Given the description of an element on the screen output the (x, y) to click on. 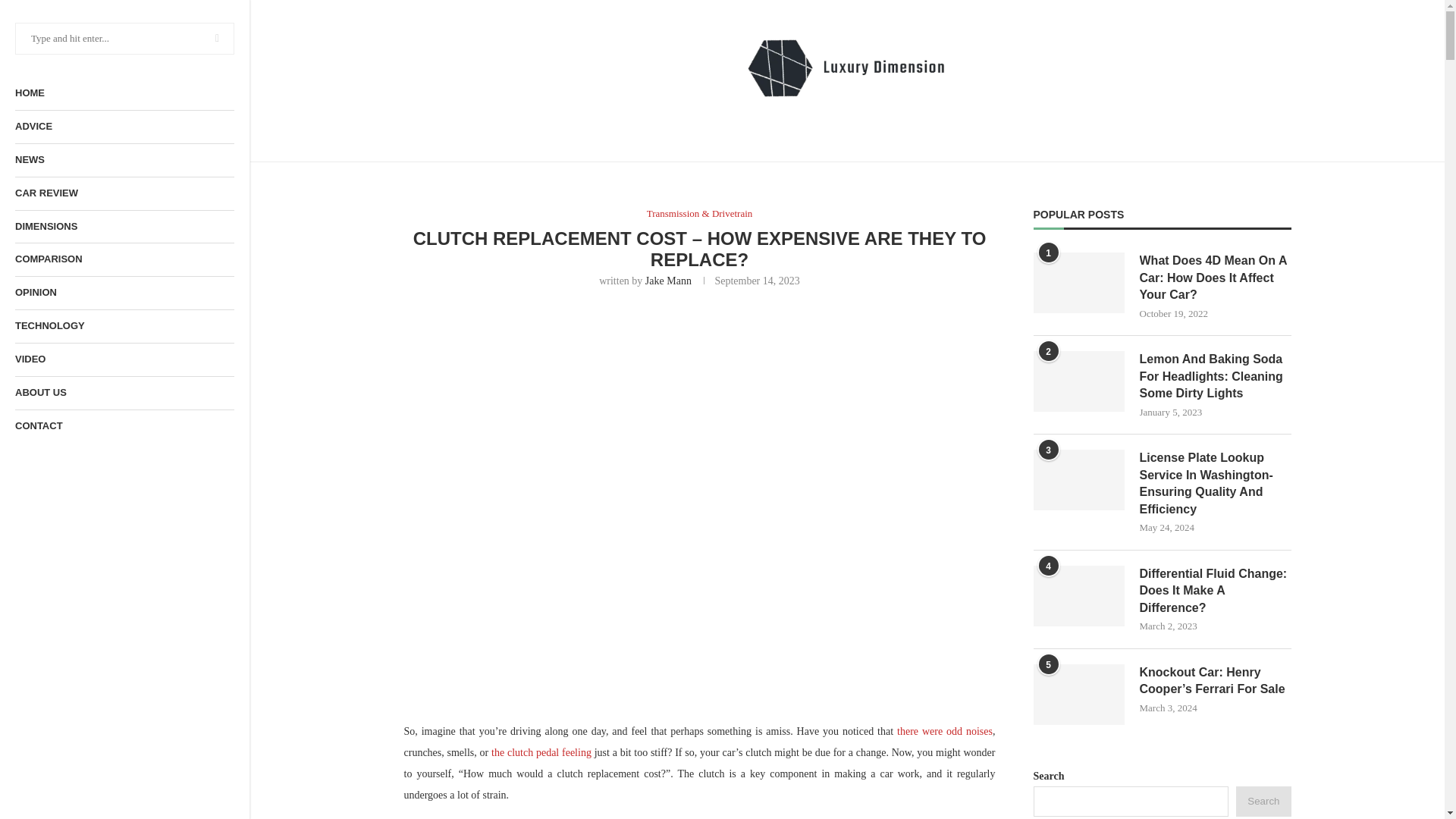
OPINION (124, 292)
CAR REVIEW (124, 193)
there were odd noises (944, 731)
NEWS (124, 160)
Jake Mann (668, 280)
ADVICE (124, 126)
HOME (124, 92)
ABOUT US (124, 392)
CONTACT (124, 426)
DIMENSIONS (124, 226)
TECHNOLOGY (124, 326)
the clutch pedal feeling (541, 752)
VIDEO (124, 359)
COMPARISON (124, 259)
